Given the description of an element on the screen output the (x, y) to click on. 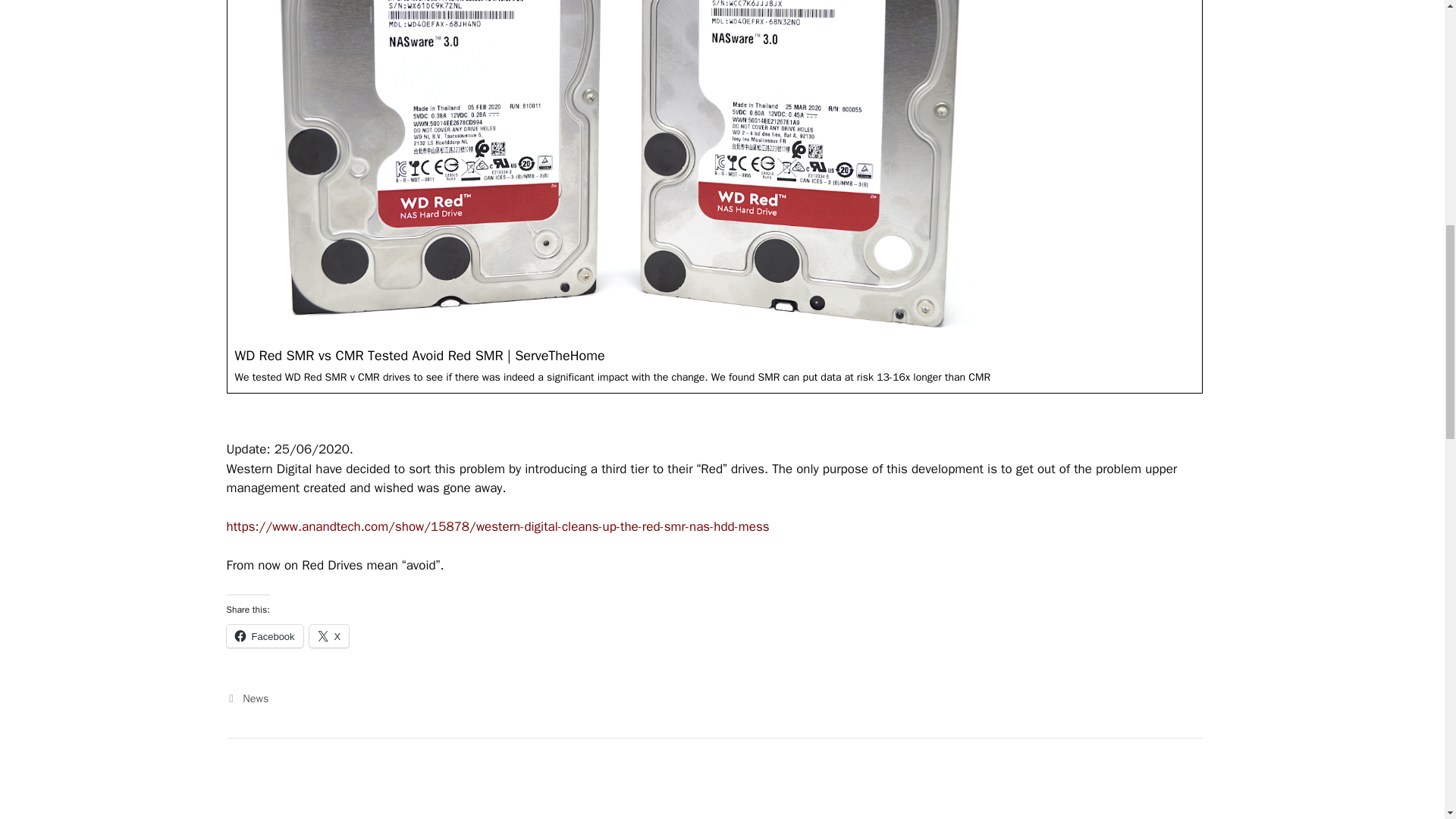
Click to share on Facebook (263, 635)
Facebook (263, 635)
X (328, 635)
Click to share on X (328, 635)
News (255, 698)
Scroll back to top (1406, 720)
